Given the description of an element on the screen output the (x, y) to click on. 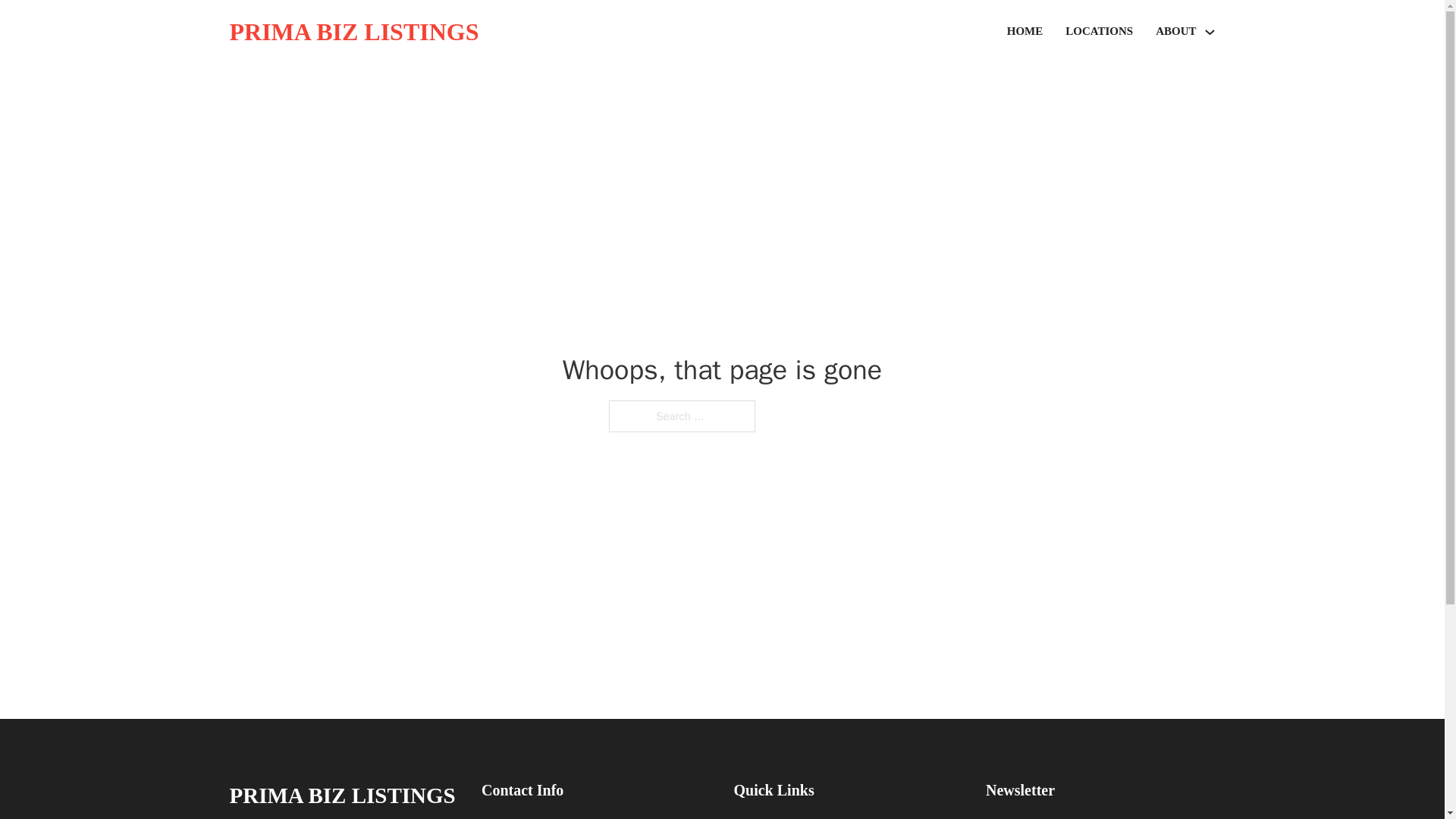
PRIMA BIZ LISTINGS (341, 795)
LOCATIONS (1098, 31)
PRIMA BIZ LISTINGS (353, 31)
HOME (1025, 31)
